Given the description of an element on the screen output the (x, y) to click on. 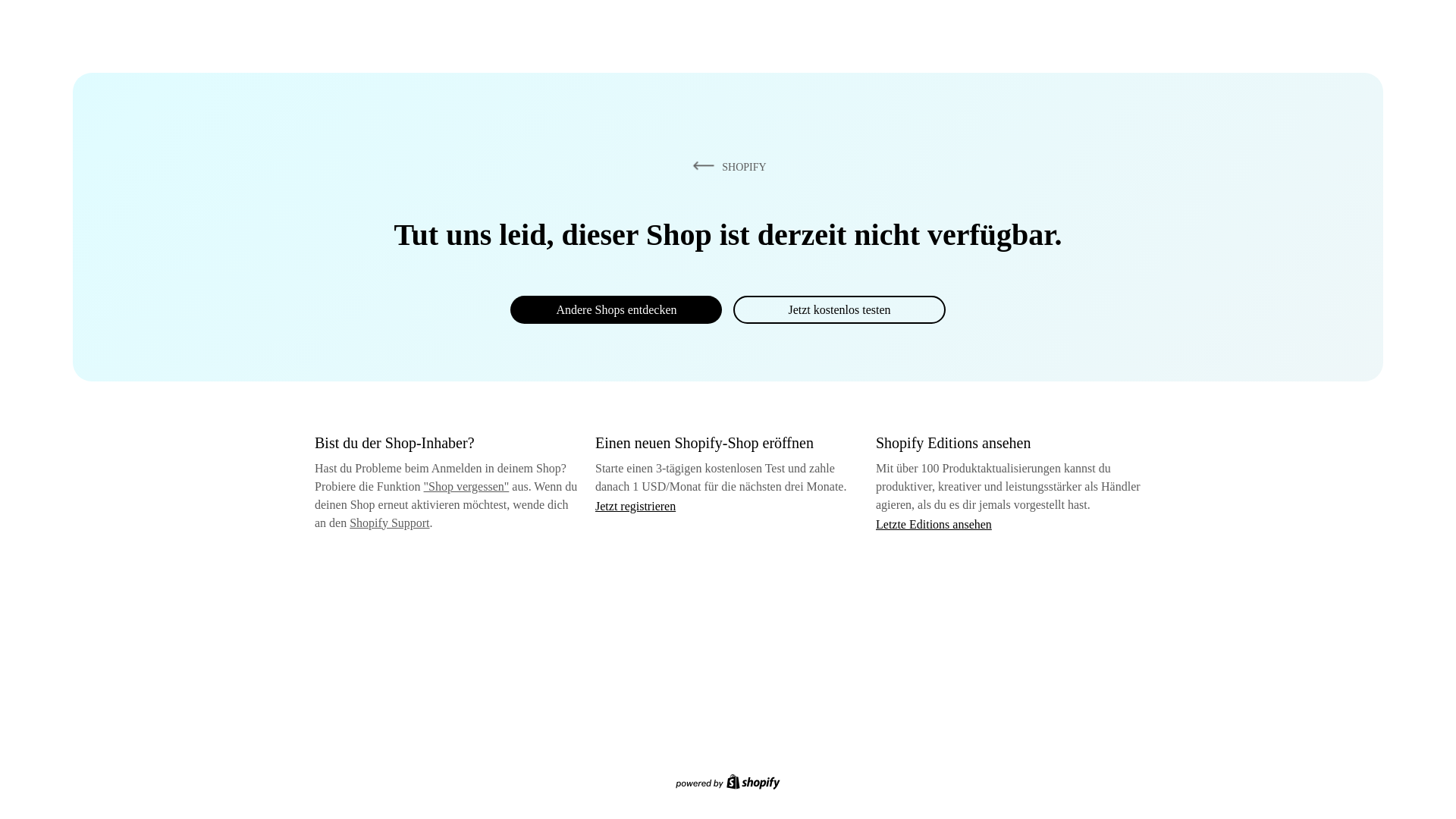
"Shop vergessen" (466, 486)
Jetzt registrieren (635, 505)
Letzte Editions ansehen (933, 523)
SHOPIFY (726, 166)
Shopify Support (389, 522)
Andere Shops entdecken (616, 309)
Jetzt kostenlos testen (838, 309)
